Given the description of an element on the screen output the (x, y) to click on. 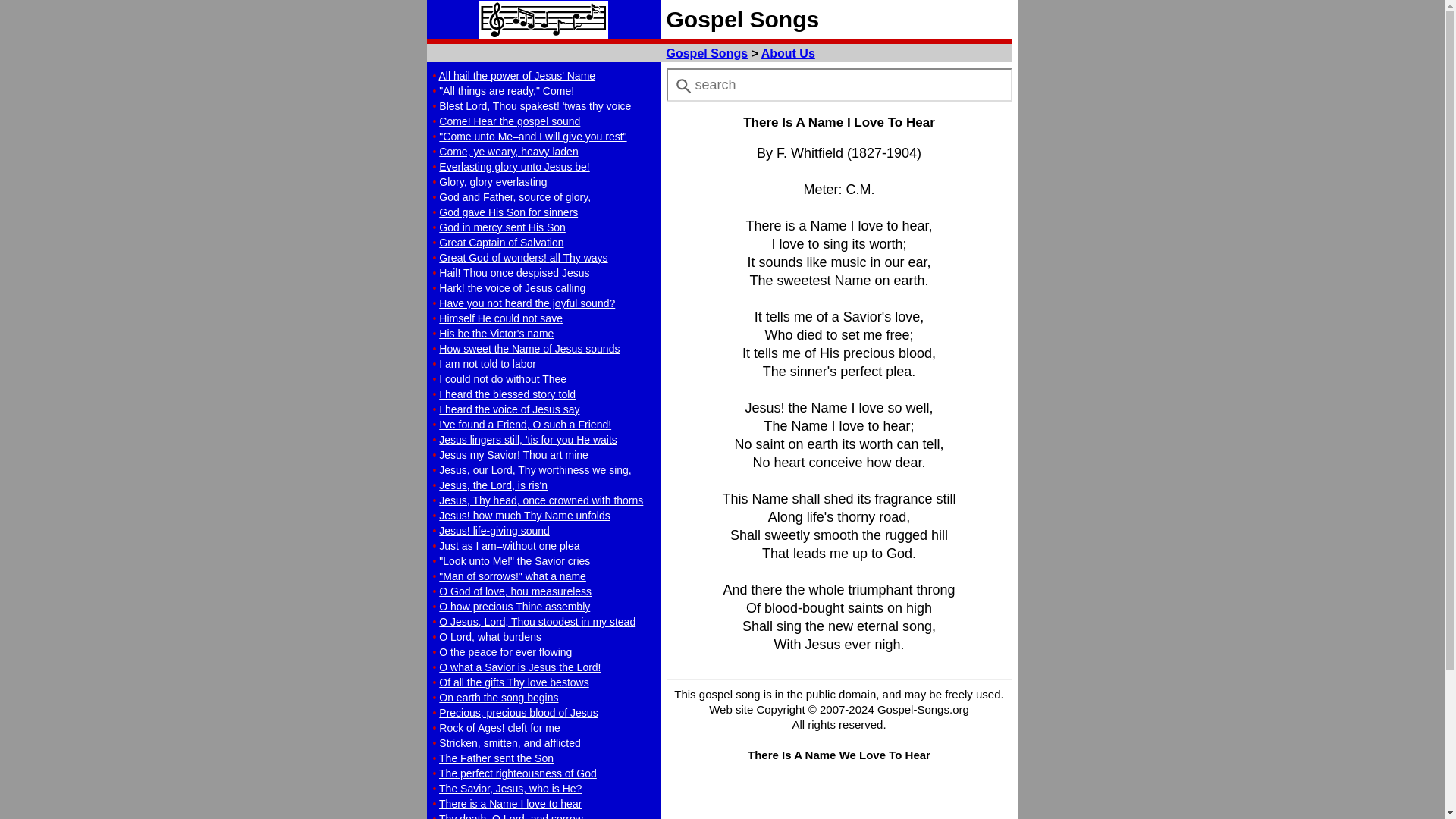
God and Father, source of glory, (515, 196)
Come! Hear the gospel sound (509, 121)
Jesus lingers still, 'tis for you (528, 439)
O how precious Thine assembly (514, 606)
Blest Lord, Thou spakest! 'twas (534, 105)
"All things are ready," Come! (506, 91)
God in mercy sent His Son (502, 227)
Have you not heard (526, 303)
Glory, glory everlasting (493, 182)
O God of love, hou measureless (515, 591)
